Given the description of an element on the screen output the (x, y) to click on. 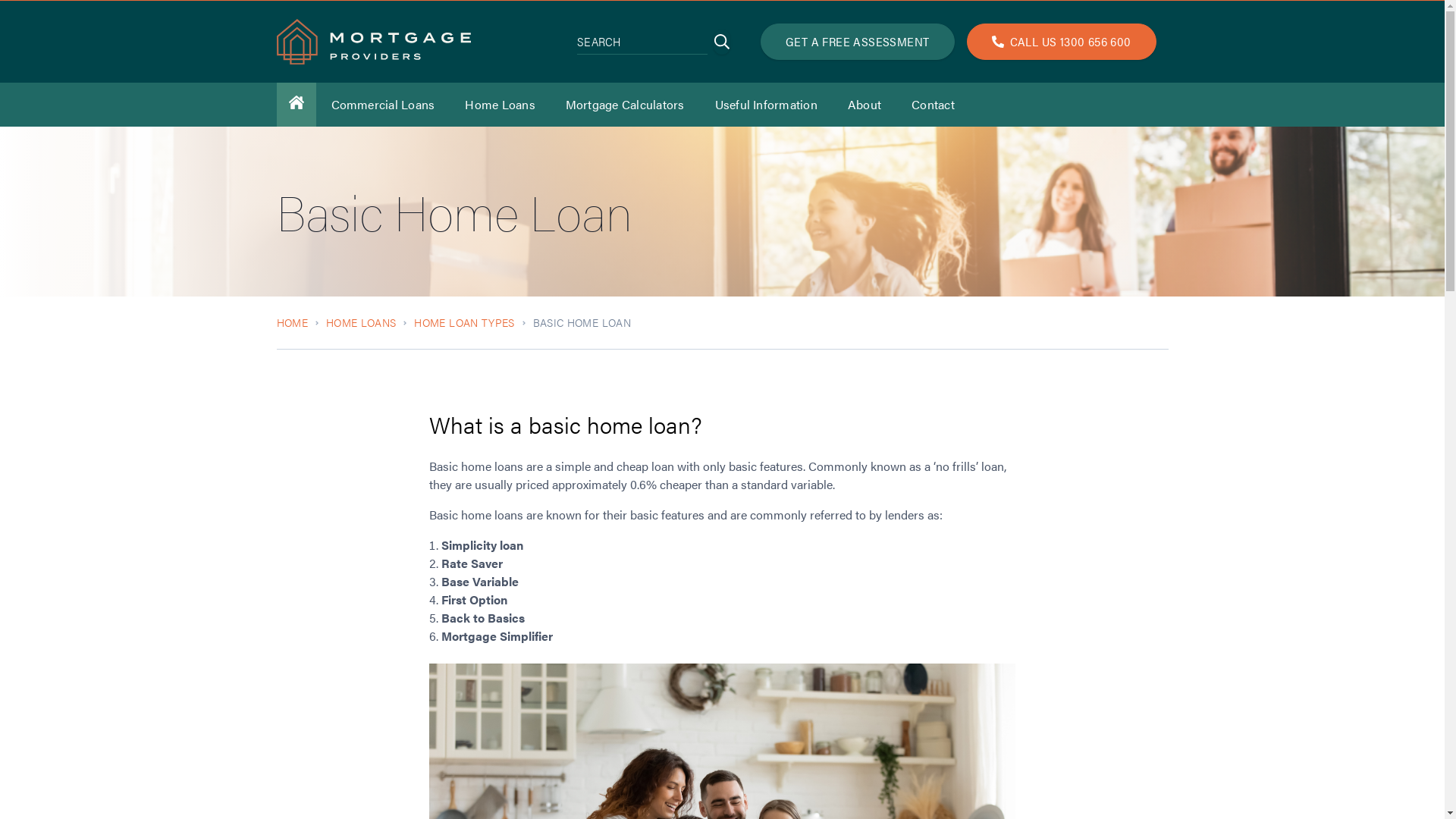
Commercial Loans Element type: text (382, 104)
Contact Element type: text (932, 104)
Mortgage Calculators Element type: text (624, 104)
HOME Element type: text (291, 322)
HOME LOAN TYPES Element type: text (464, 322)
CALL US 1300 656 600 Element type: text (1061, 41)
SEARCH Element type: text (721, 41)
Home Loans Element type: text (499, 104)
About Element type: text (864, 104)
GET A FREE ASSESSMENT Element type: text (856, 41)
Useful Information Element type: text (765, 104)
HOME LOANS Element type: text (361, 322)
